Given the description of an element on the screen output the (x, y) to click on. 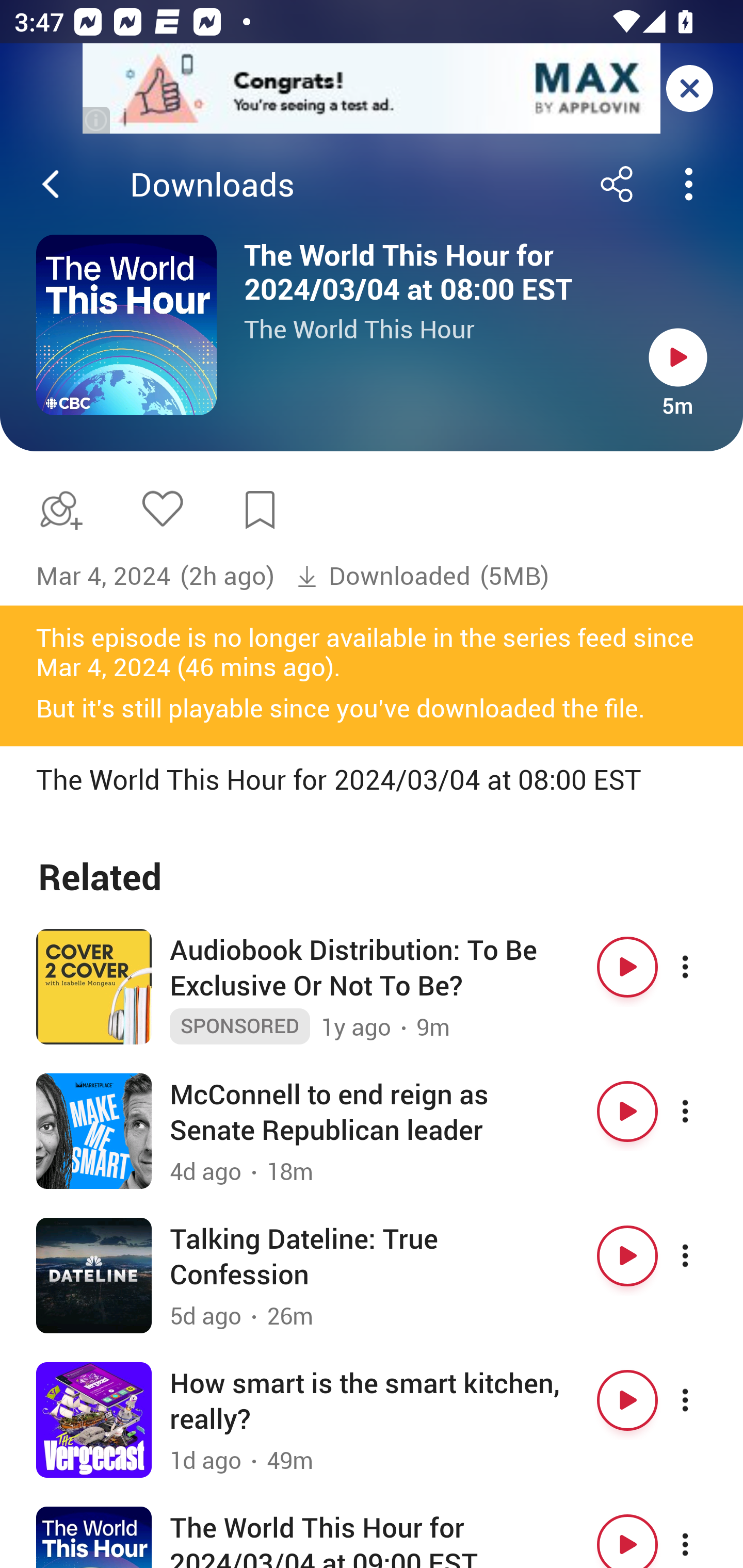
app-monetization (371, 88)
(i) (96, 119)
Back (50, 184)
Open series (126, 325)
Play button (677, 357)
Like (161, 507)
Add episode to Play Later (57, 509)
New bookmark … (259, 510)
Downloaded (383, 576)
Play button (627, 966)
More options (703, 966)
Play button (627, 1111)
More options (703, 1111)
Play button (627, 1255)
More options (703, 1255)
Play button (627, 1400)
More options (703, 1400)
Play button (627, 1536)
More options (703, 1536)
